Given the description of an element on the screen output the (x, y) to click on. 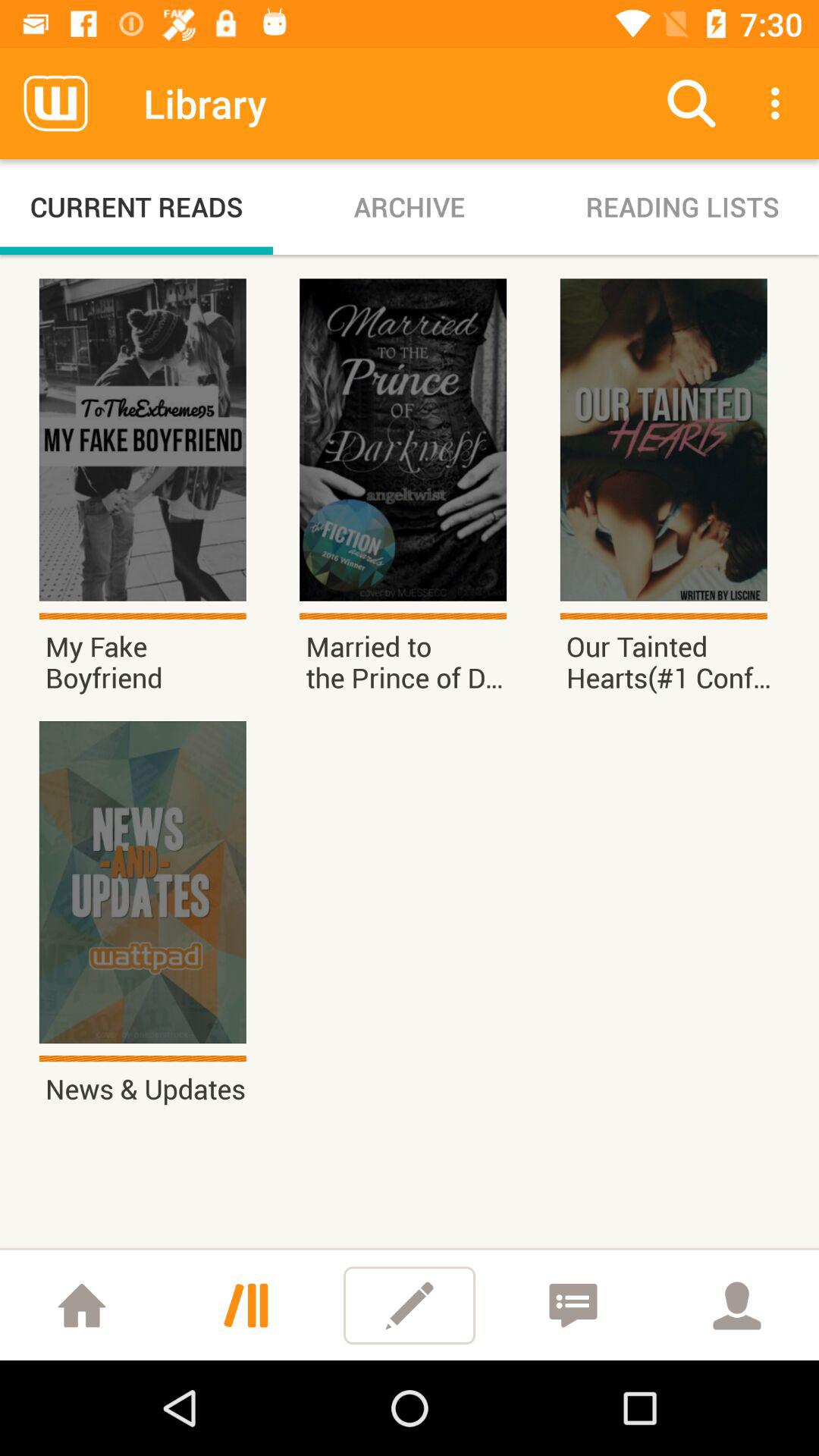
launch icon to the left of the library icon (55, 103)
